Given the description of an element on the screen output the (x, y) to click on. 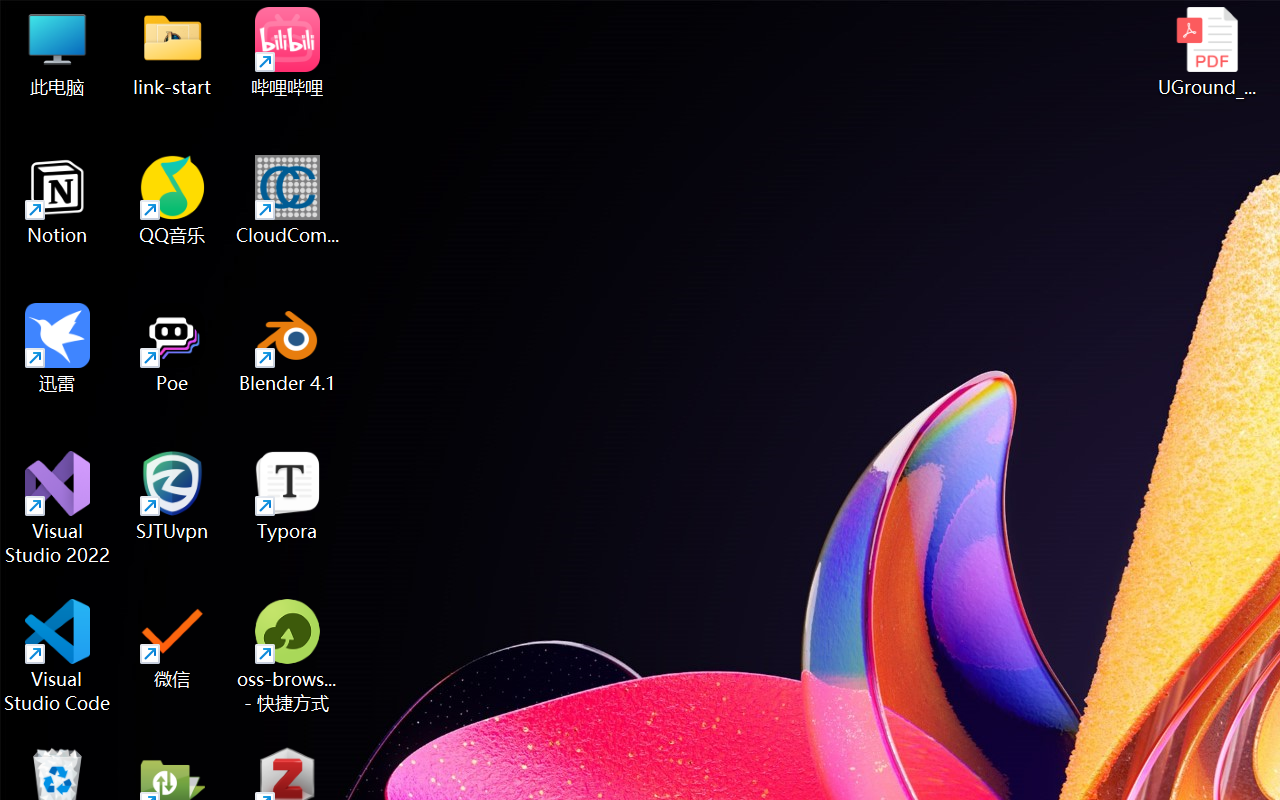
Blender 4.1 (287, 348)
Typora (287, 496)
Visual Studio 2022 (57, 508)
UGround_paper.pdf (1206, 52)
SJTUvpn (172, 496)
Visual Studio Code (57, 656)
CloudCompare (287, 200)
